Given the description of an element on the screen output the (x, y) to click on. 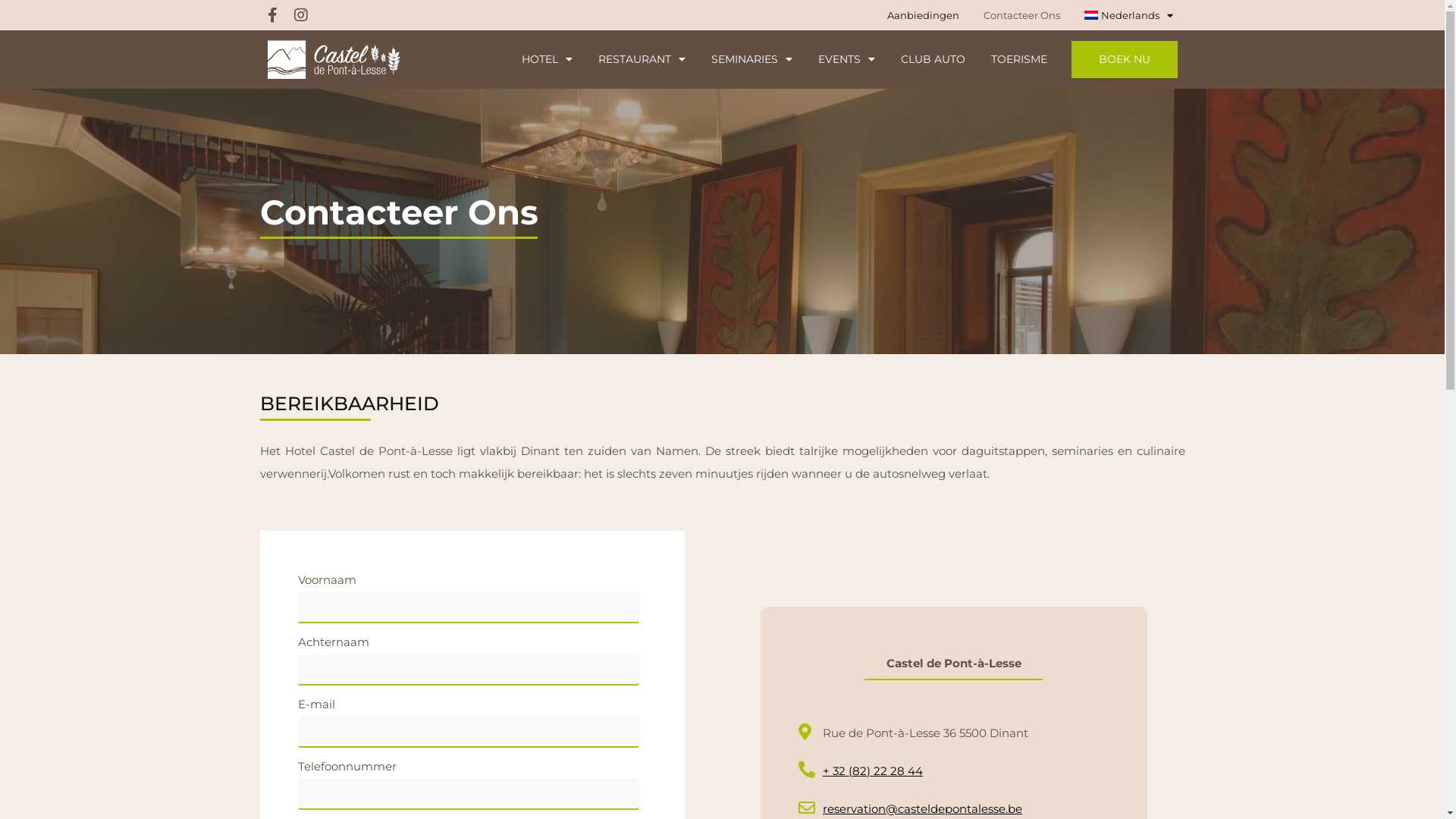
+ 32 (82) 22 28 44 Element type: text (952, 770)
BOEK NU Element type: text (1123, 59)
TOERISME Element type: text (1018, 59)
HOTEL Element type: text (547, 59)
Contacteer Ons Element type: text (1021, 14)
SEMINARIES Element type: text (751, 59)
CLUB AUTO Element type: text (932, 59)
RESTAURANT Element type: text (641, 59)
Nederlands Element type: text (1128, 14)
Aanbiedingen Element type: text (922, 14)
EVENTS Element type: text (845, 59)
